Given the description of an element on the screen output the (x, y) to click on. 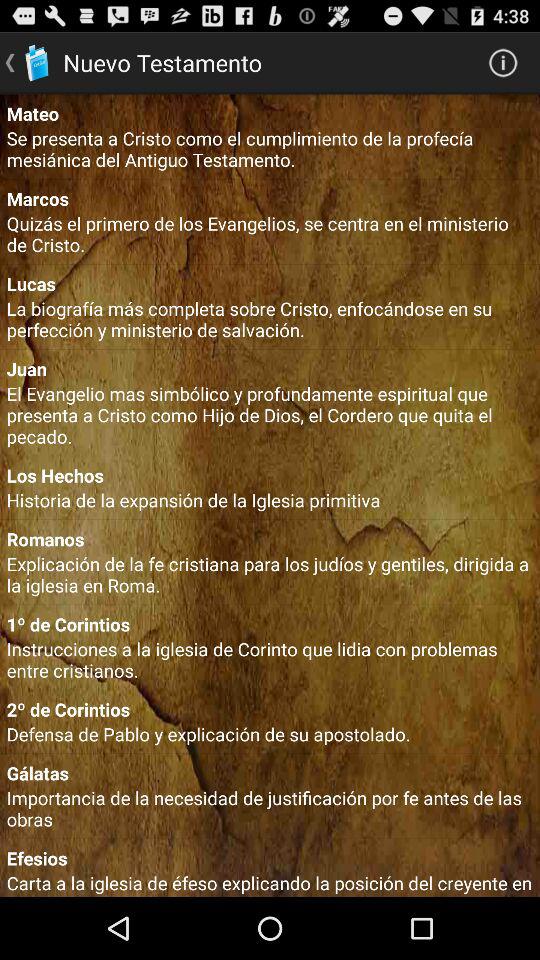
flip to el evangelio mas item (269, 414)
